Given the description of an element on the screen output the (x, y) to click on. 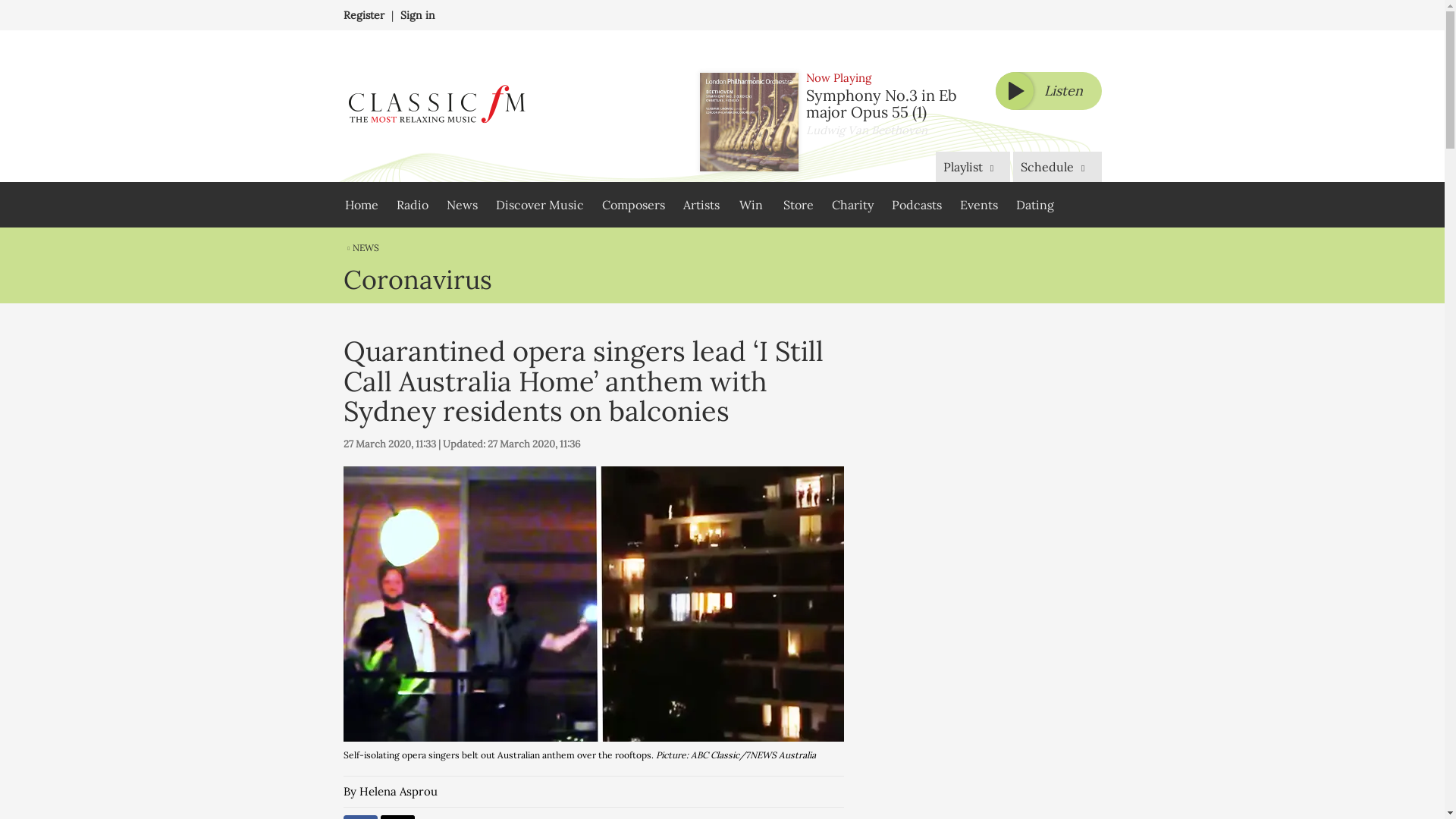
Dating (1034, 204)
Podcasts (916, 204)
News (461, 204)
Artists (700, 204)
Home (360, 204)
NEWS (360, 247)
Events (978, 204)
Listen (1047, 90)
Playlist (973, 166)
Classic FM (435, 106)
